Given the description of an element on the screen output the (x, y) to click on. 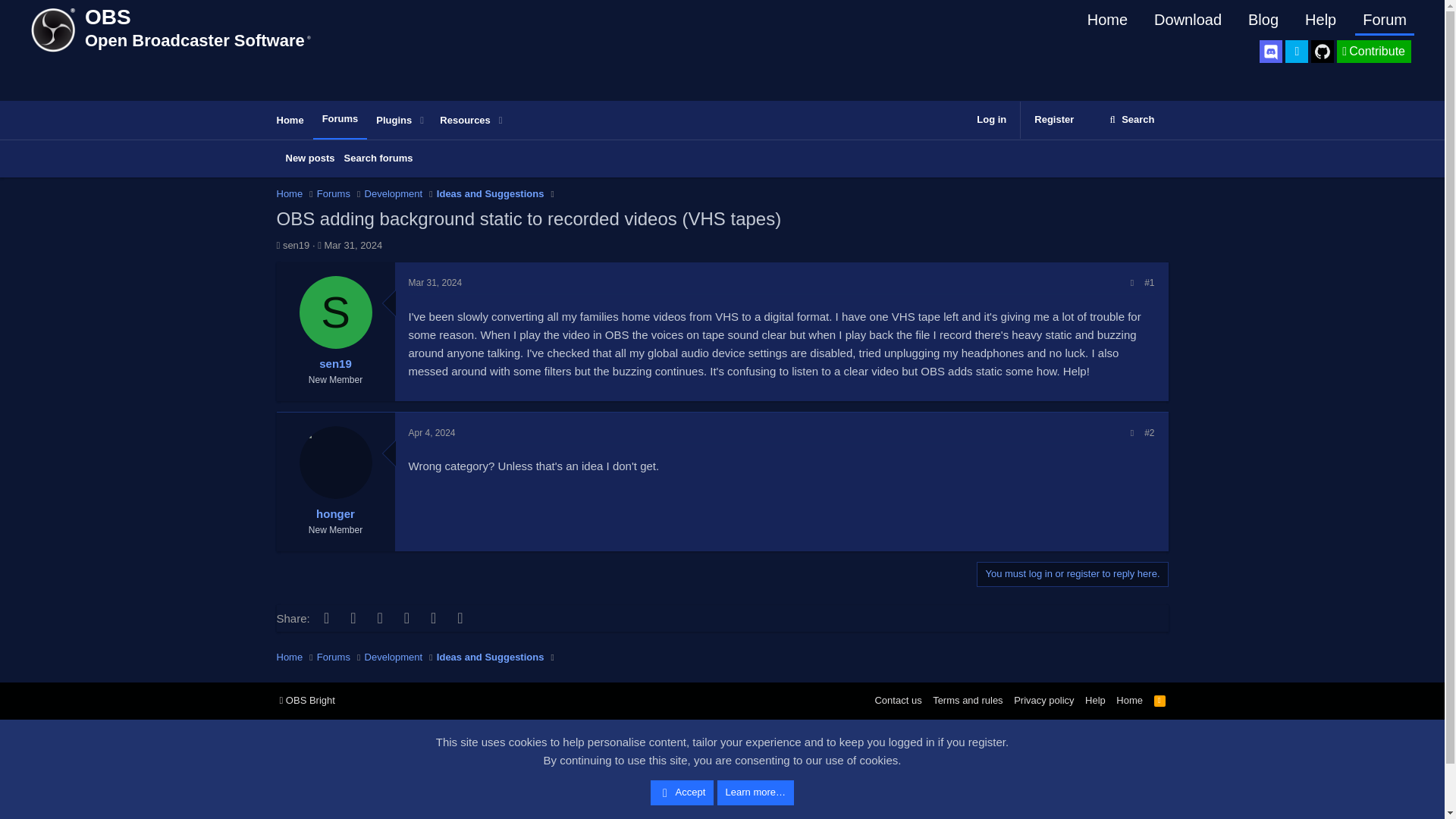
Plugins (389, 120)
RSS (1160, 699)
Apr 4, 2024 at 10:19 AM (430, 432)
Search forums (378, 158)
Development (394, 193)
Help (1320, 19)
Contribute (1373, 51)
Log in (991, 119)
Forums (333, 193)
Blog (1262, 19)
Search (1131, 119)
Home (289, 193)
Mar 31, 2024 at 7:40 PM (721, 175)
Home (353, 244)
